Given the description of an element on the screen output the (x, y) to click on. 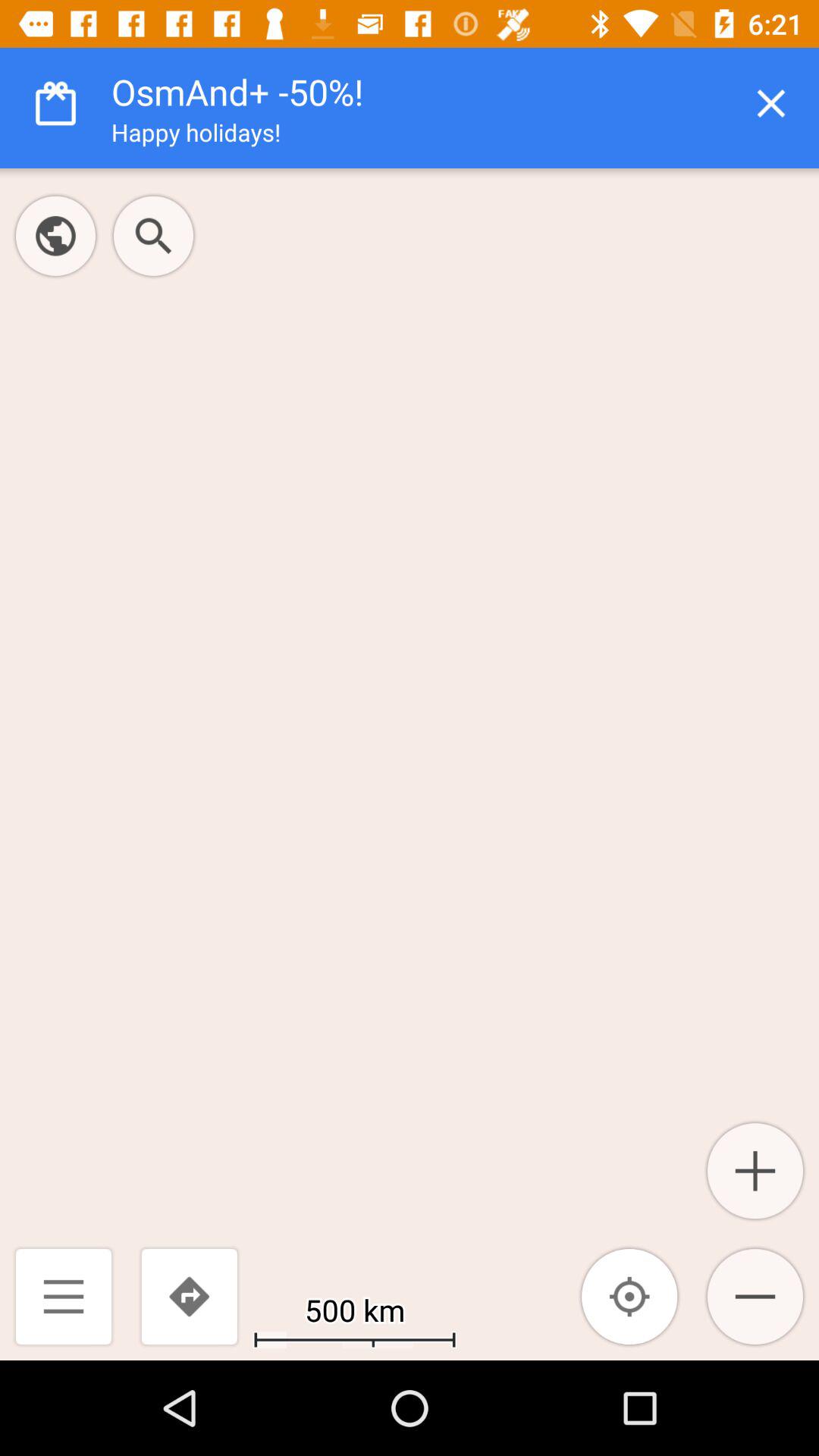
turn on icon to the right of osmand+ -50%! icon (771, 103)
